Given the description of an element on the screen output the (x, y) to click on. 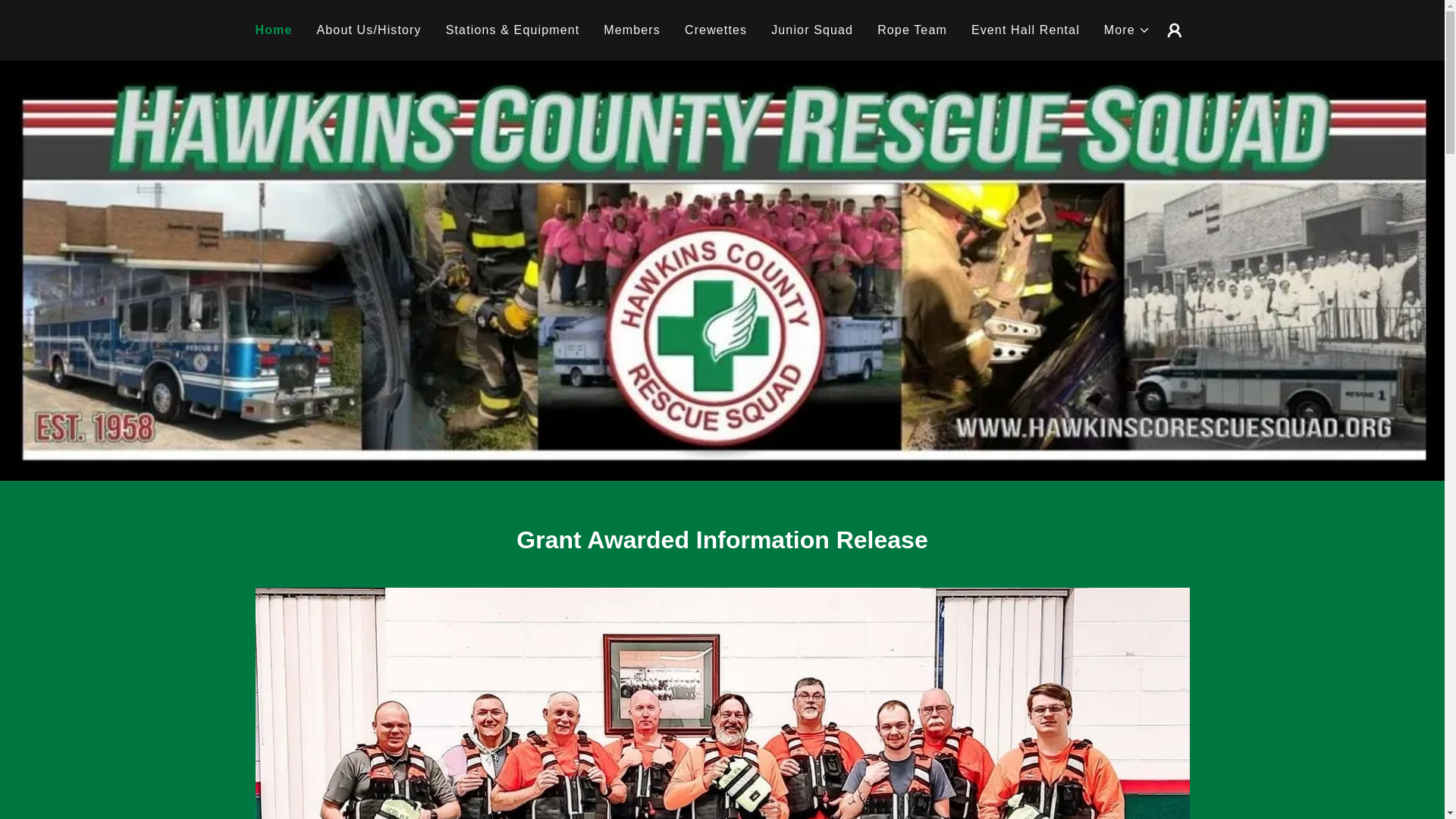
Home (273, 30)
More (1126, 30)
Junior Squad (812, 30)
Rope Team (912, 30)
Event Hall Rental (1025, 30)
Crewettes (715, 30)
Members (631, 30)
